Given the description of an element on the screen output the (x, y) to click on. 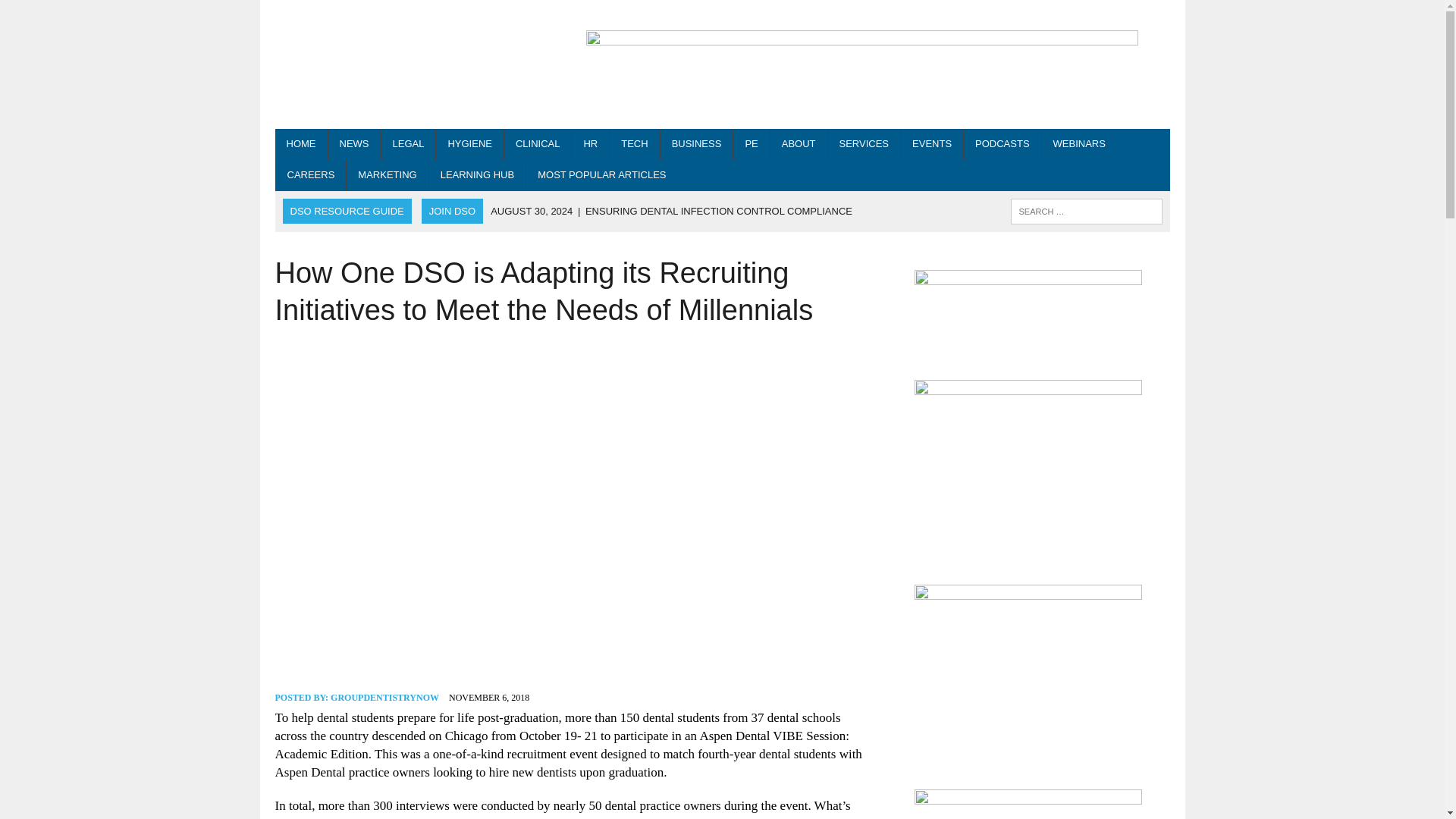
BUSINESS (697, 143)
EVENTS (931, 143)
WEBINARS (1079, 143)
PODCASTS (1002, 143)
LEGAL (407, 143)
SERVICES (864, 143)
TECH (634, 143)
HYGIENE (469, 143)
Consulting, Funding, Aquistion, Education for the DSO space (864, 143)
